Given the description of an element on the screen output the (x, y) to click on. 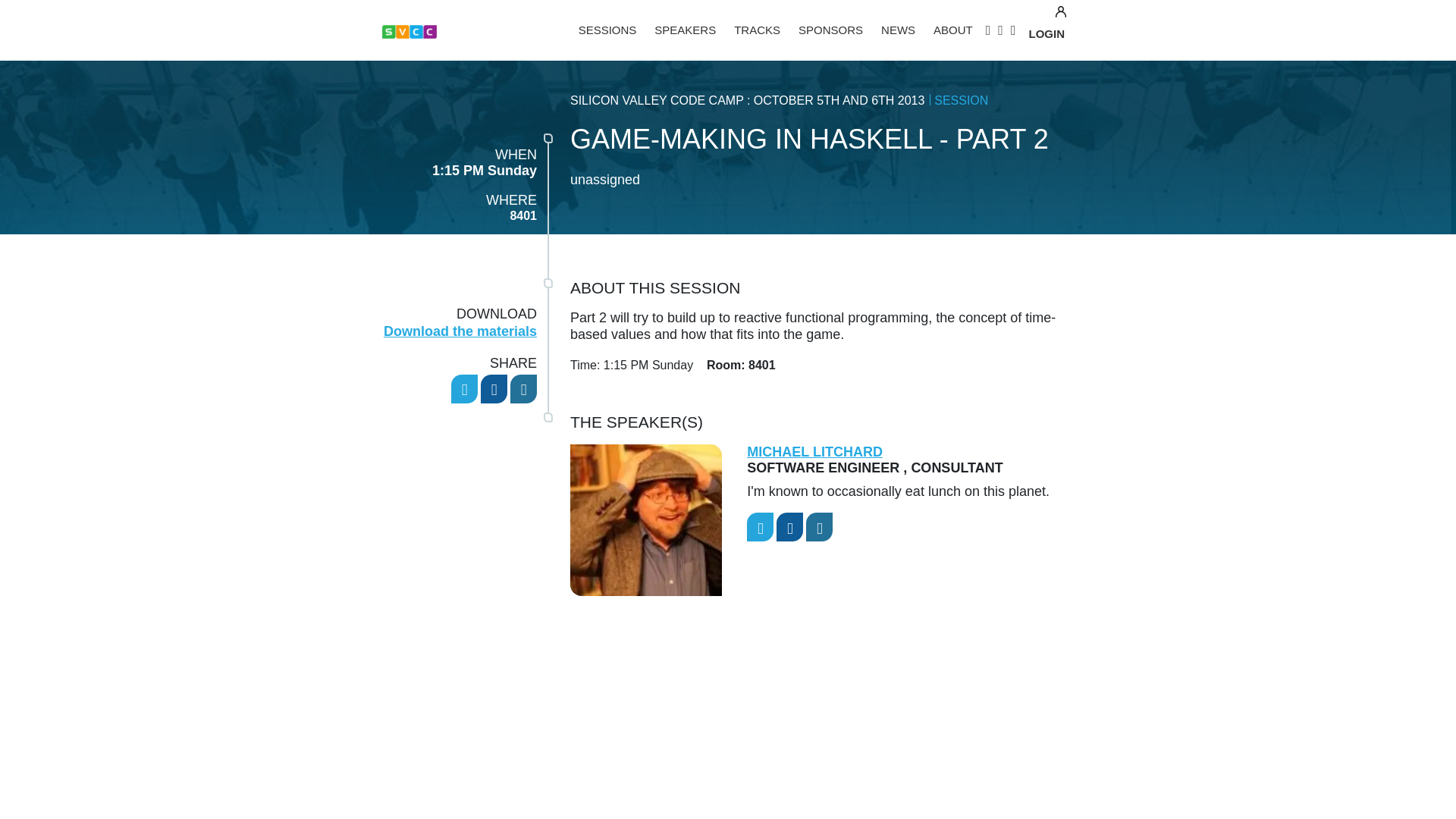
SPONSORS (830, 30)
LOGIN (1046, 34)
ABOUT (952, 30)
NEWS (898, 30)
SPEAKERS (685, 30)
TRACKS (757, 30)
SESSIONS (607, 30)
Download the materials (460, 331)
MICHAEL LITCHARD (814, 451)
